Given the description of an element on the screen output the (x, y) to click on. 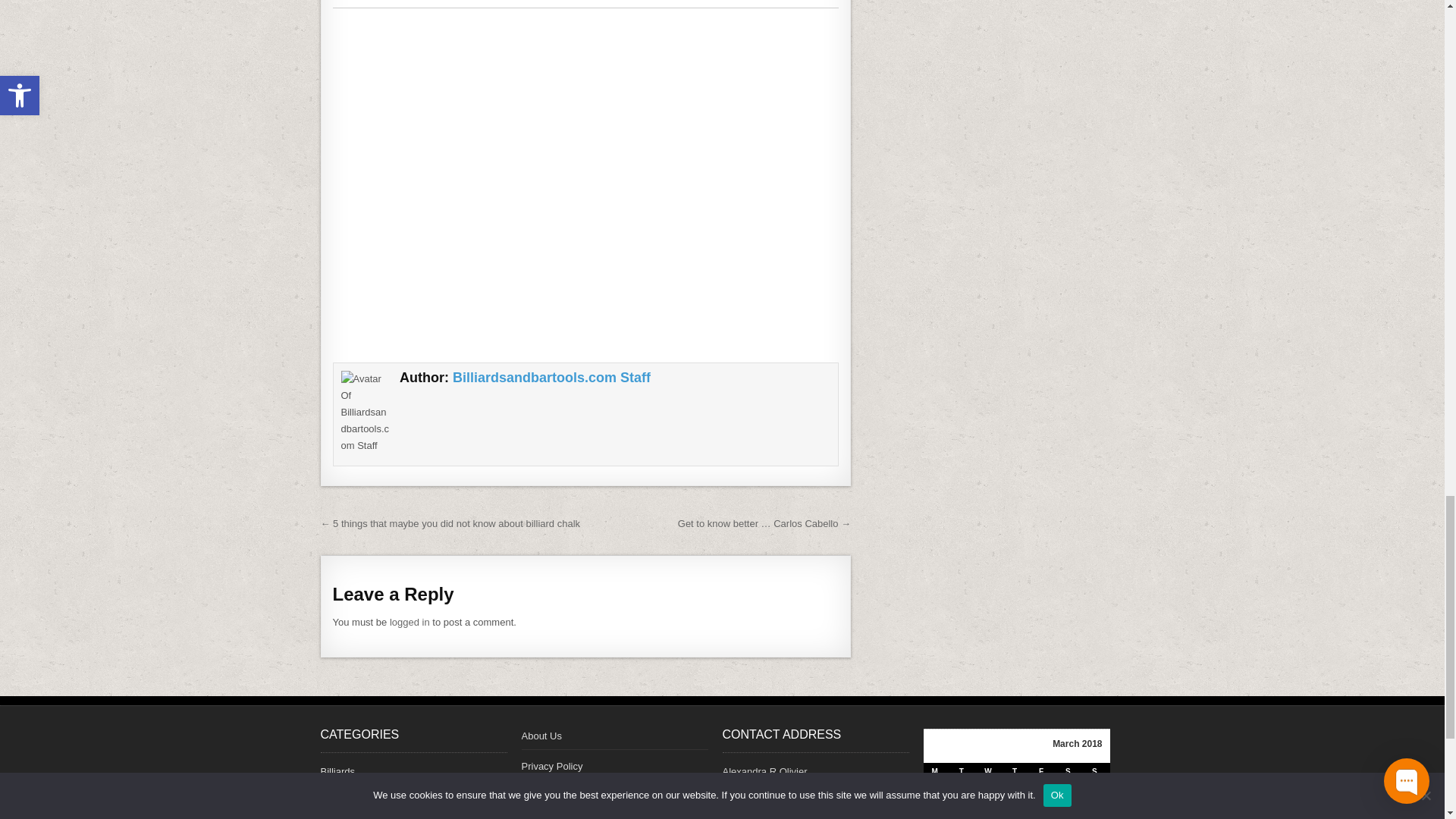
Tuesday (963, 773)
Friday (1043, 773)
Wednesday (989, 773)
Monday (936, 773)
Billiardsandbartools.com Staff (551, 377)
Saturday (1070, 773)
Thursday (1016, 773)
Sunday (1096, 773)
logged in (409, 622)
